Given the description of an element on the screen output the (x, y) to click on. 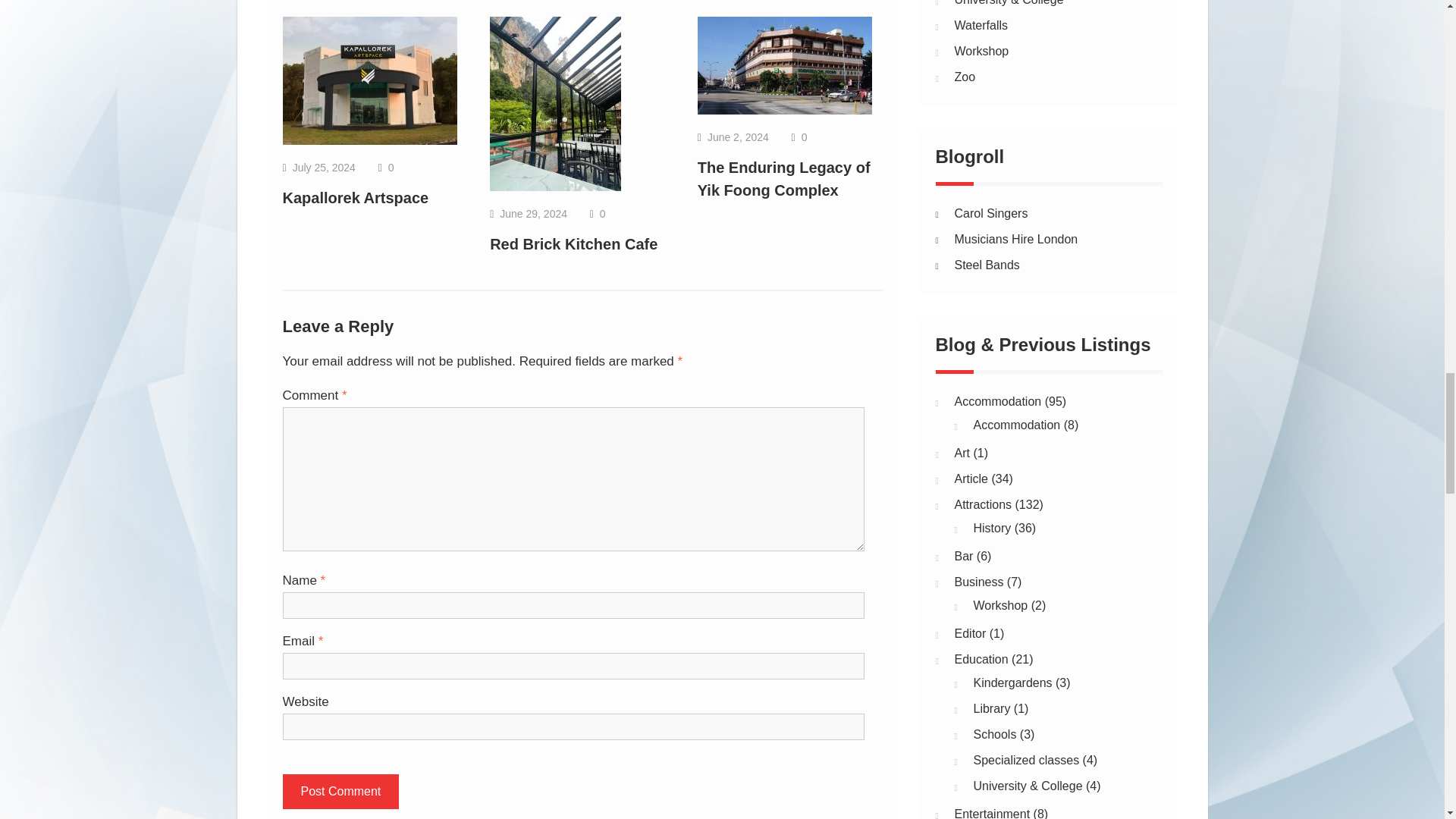
Hire London Based Musicians for Events in Asia (1015, 238)
Hire Oktoberfest Bands (990, 213)
Find a Triathlon Coach (986, 264)
Post Comment (340, 791)
